Given the description of an element on the screen output the (x, y) to click on. 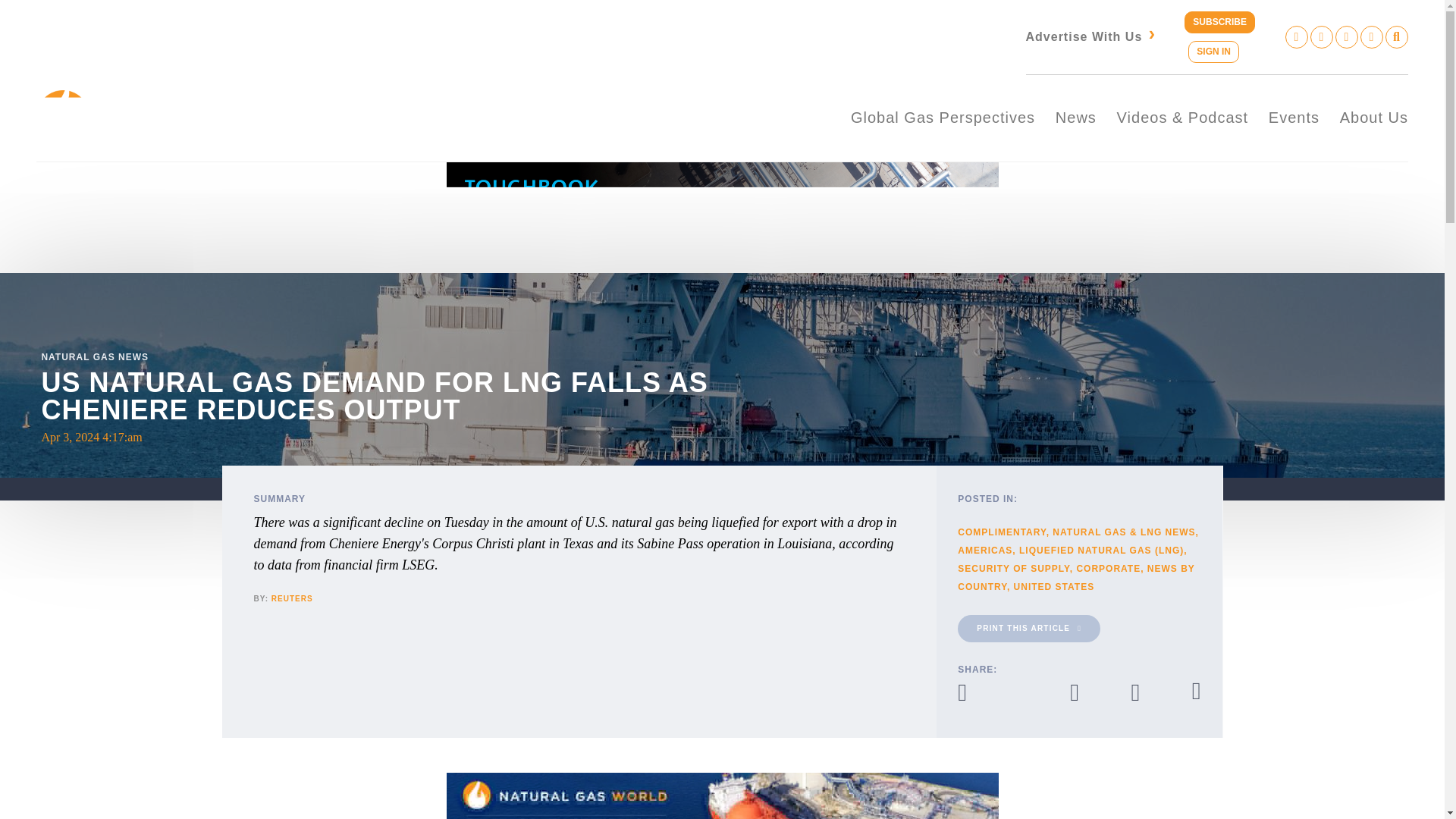
SIGN IN (1213, 51)
PRINT THIS ARTICLE (1029, 628)
Global Gas Perspectives (942, 117)
SUBSCRIBE (1220, 22)
CORPORATE (1107, 568)
About Us (1373, 117)
UNITED STATES (1053, 586)
Events (1293, 117)
NEWS BY COUNTRY (1075, 577)
COMPLIMENTARY (1001, 532)
News (1075, 117)
SECURITY OF SUPPLY (1013, 568)
AMERICAS (984, 550)
